Given the description of an element on the screen output the (x, y) to click on. 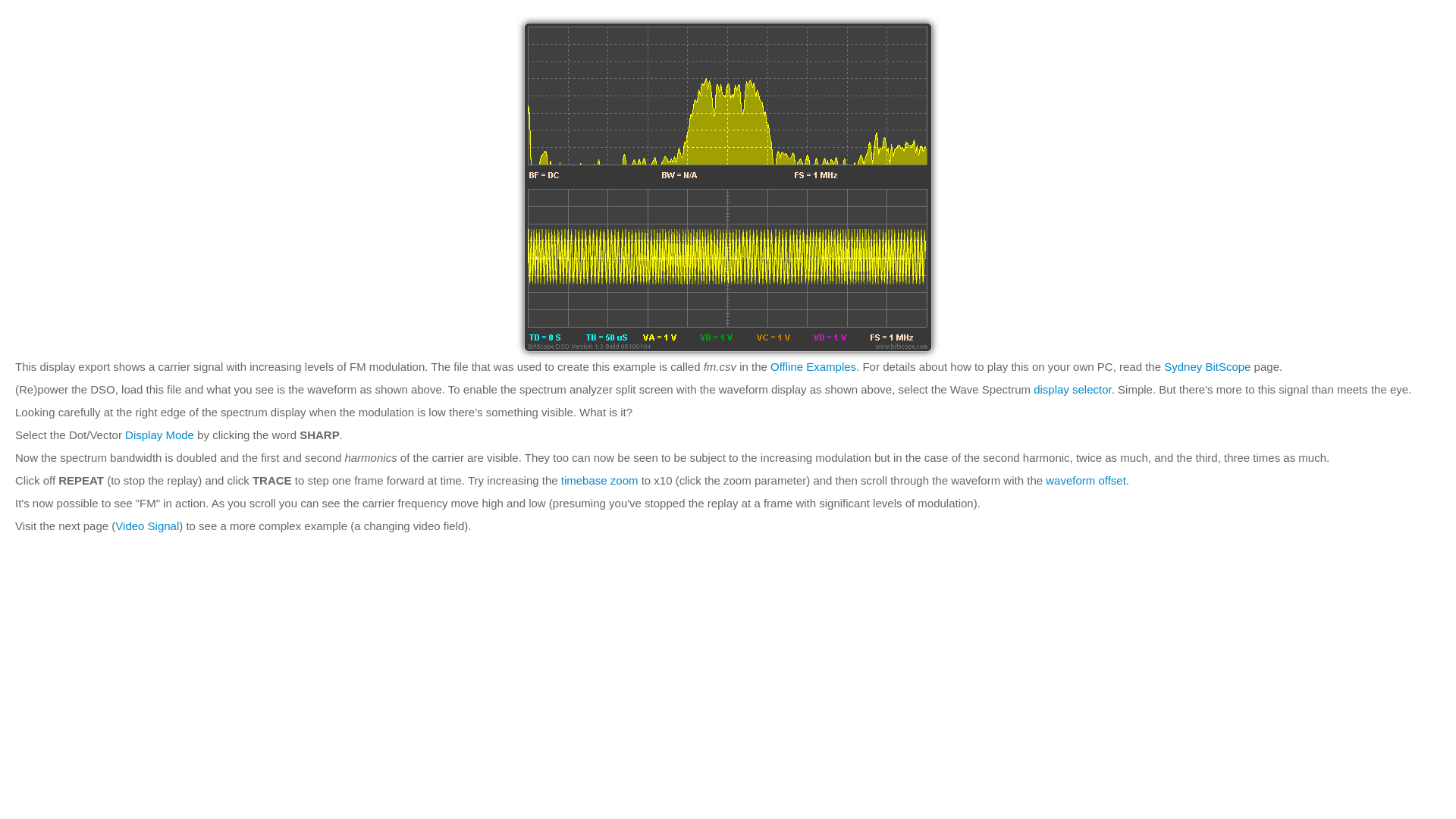
waveform offset (1085, 480)
Offline Examples (813, 366)
display selector (1072, 389)
Sydney BitScope (1206, 366)
Video Signal (147, 525)
timebase zoom (599, 480)
Display Mode (159, 434)
